Given the description of an element on the screen output the (x, y) to click on. 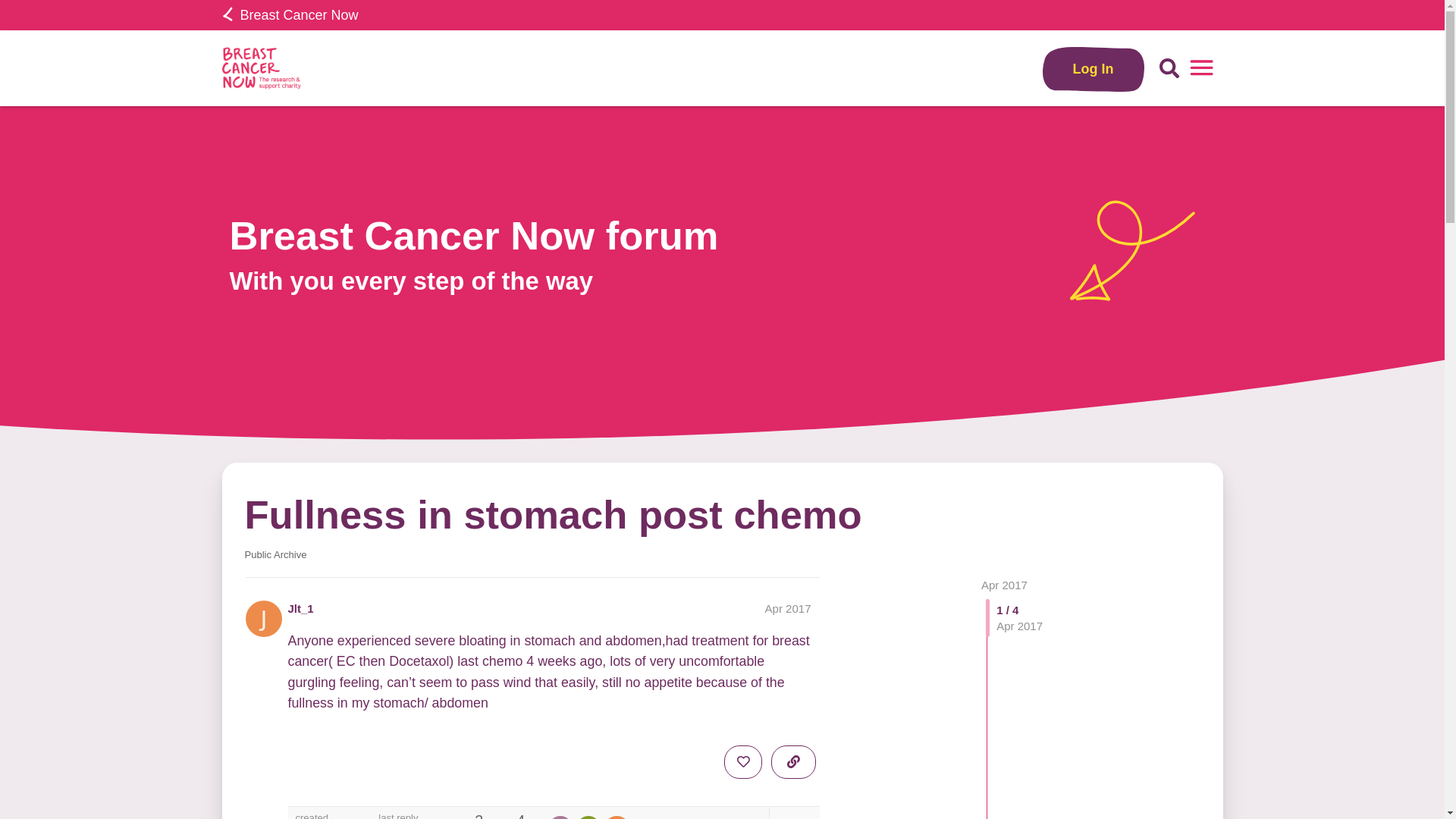
Apr 2017 (1004, 584)
Fullness in stomach post chemo (552, 514)
Log In (1093, 68)
expand topic details (793, 812)
last reply (413, 816)
Apr 2017 (1004, 584)
Archived posts which are available to view. (274, 554)
menu (1201, 67)
like this post (742, 761)
Public Archive (274, 554)
Search (1169, 68)
Apr 2017 (787, 608)
riversidedawn (560, 817)
copy a link to this post to clipboard (793, 761)
Post date (787, 608)
